Given the description of an element on the screen output the (x, y) to click on. 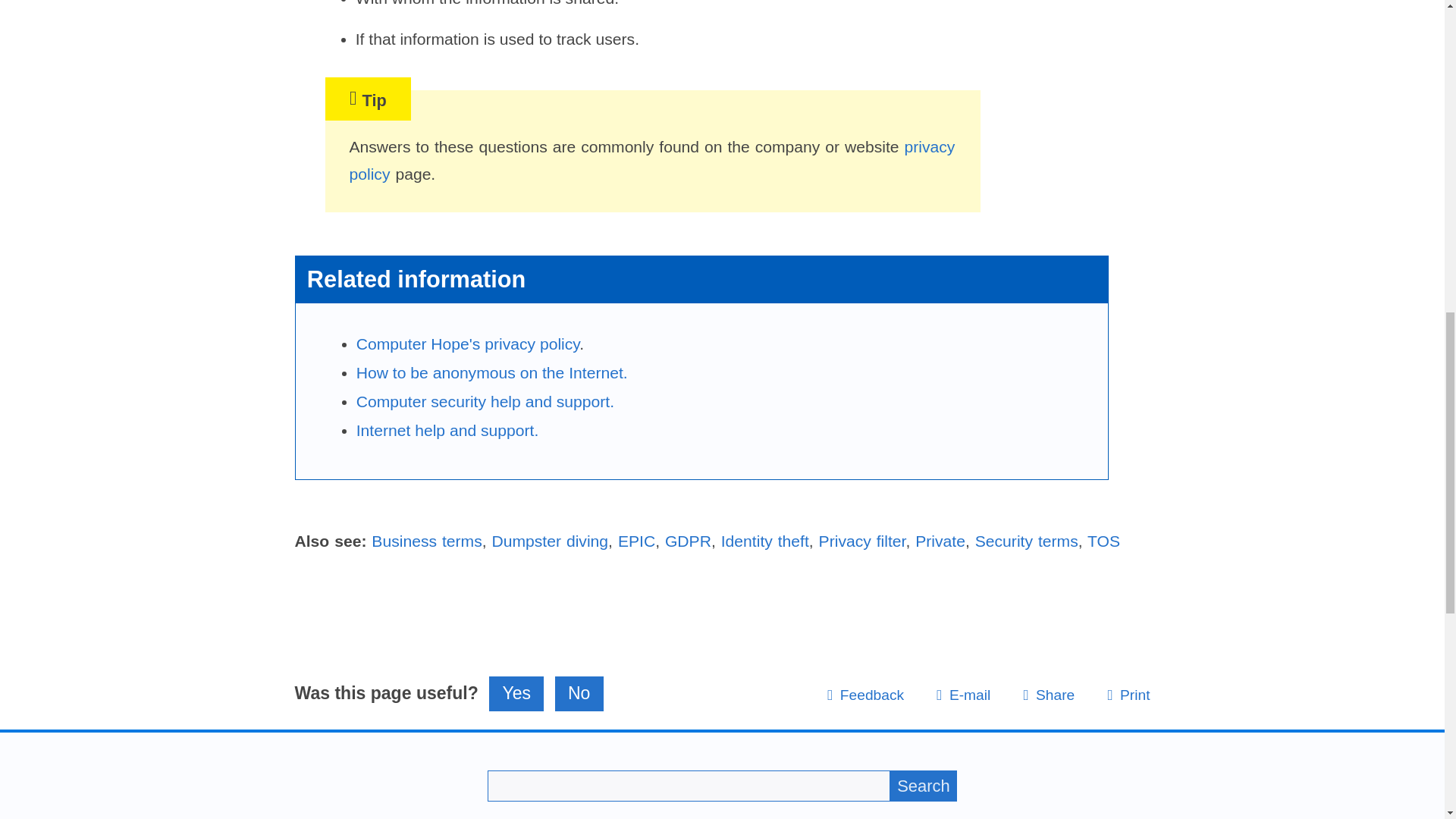
Computer Hope's privacy policy (467, 343)
E-mail Computer Hope (963, 694)
Business terms (426, 540)
E-mail (963, 694)
Print a copy of this page (1128, 694)
Share this page with friends and social networks (1048, 694)
Feedback (865, 694)
Private (940, 540)
No (579, 693)
Privacy filter (861, 540)
GDPR (688, 540)
Give us your feedback about this page (865, 694)
Print (1128, 694)
Computer security help and support. (485, 401)
Yes (516, 693)
